Given the description of an element on the screen output the (x, y) to click on. 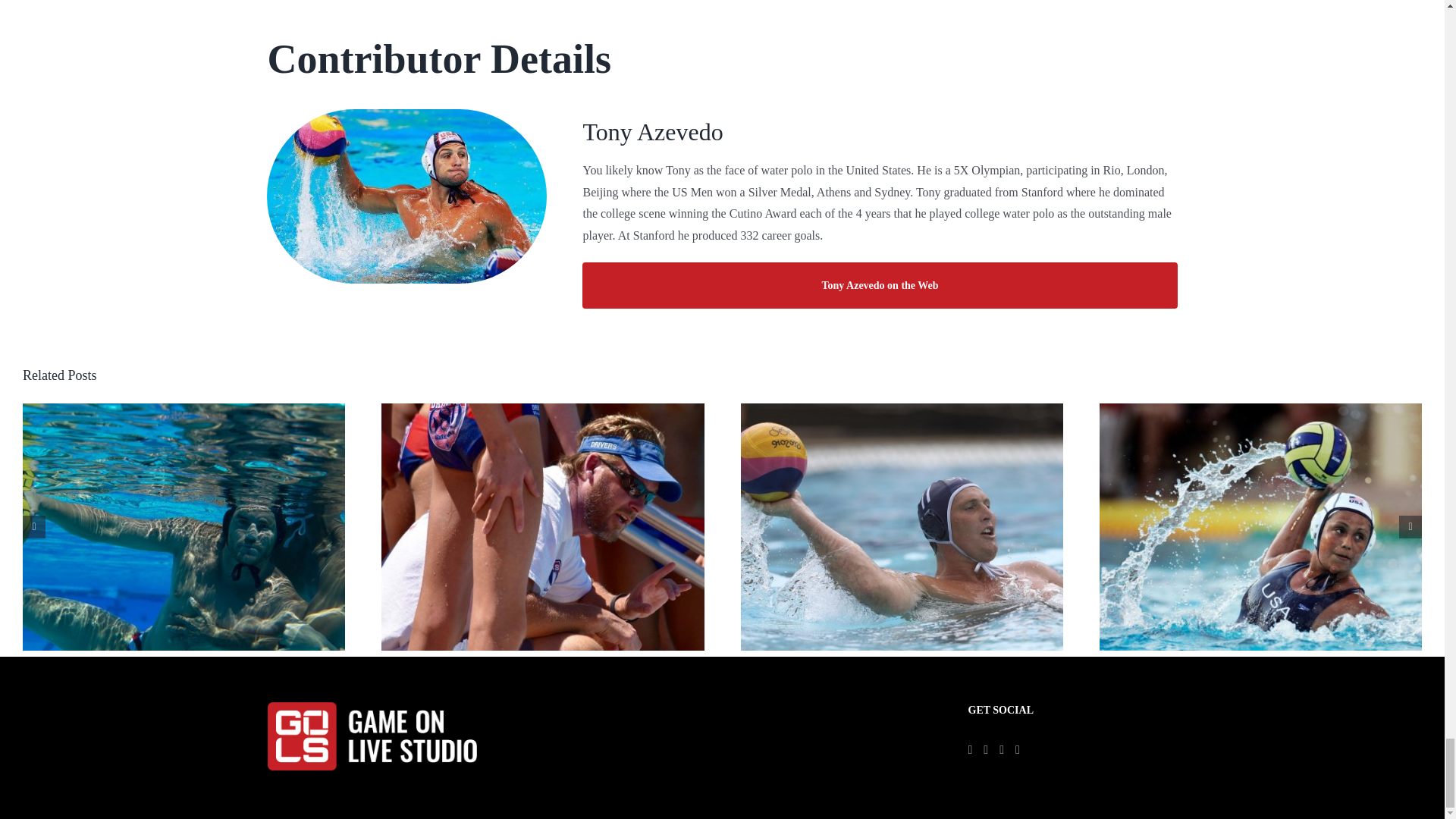
Tony Azevedo on the Web (879, 285)
